Given the description of an element on the screen output the (x, y) to click on. 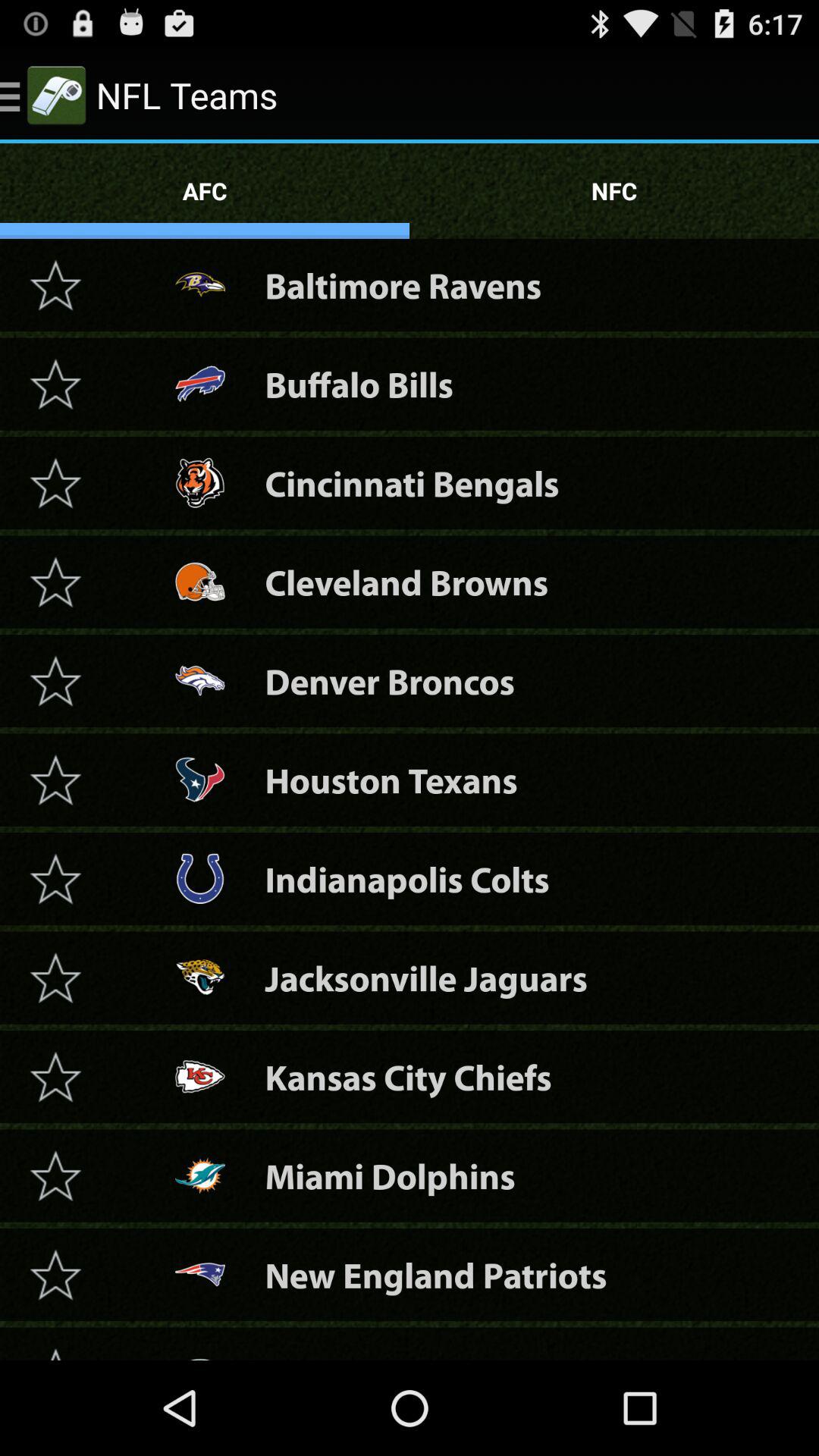
favorite bengals (55, 482)
